Given the description of an element on the screen output the (x, y) to click on. 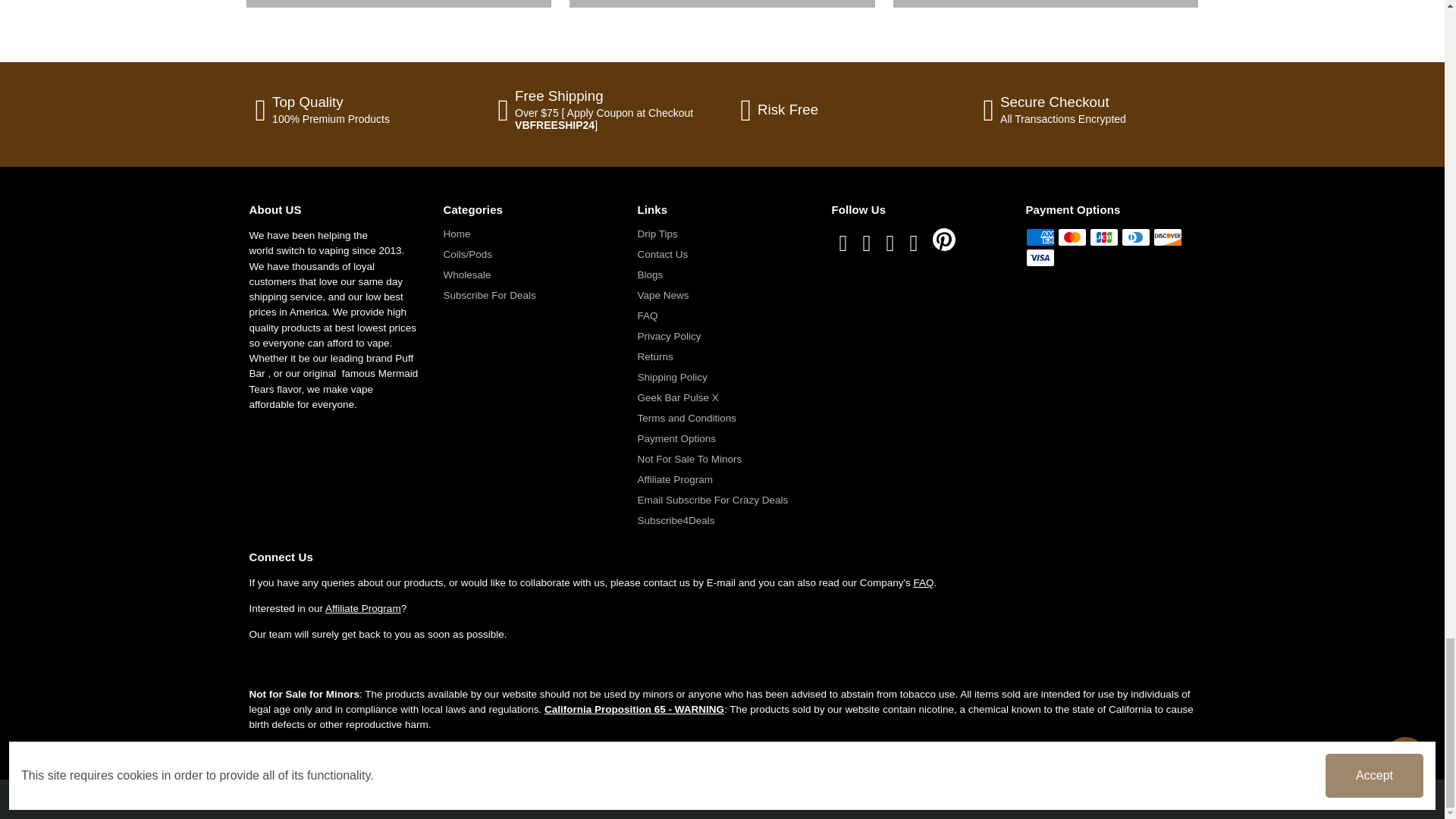
Visa (1039, 257)
American Express (1039, 237)
Discover (1167, 237)
Diners Club (1135, 237)
JCB (1103, 237)
Mastercard (1072, 237)
